Given the description of an element on the screen output the (x, y) to click on. 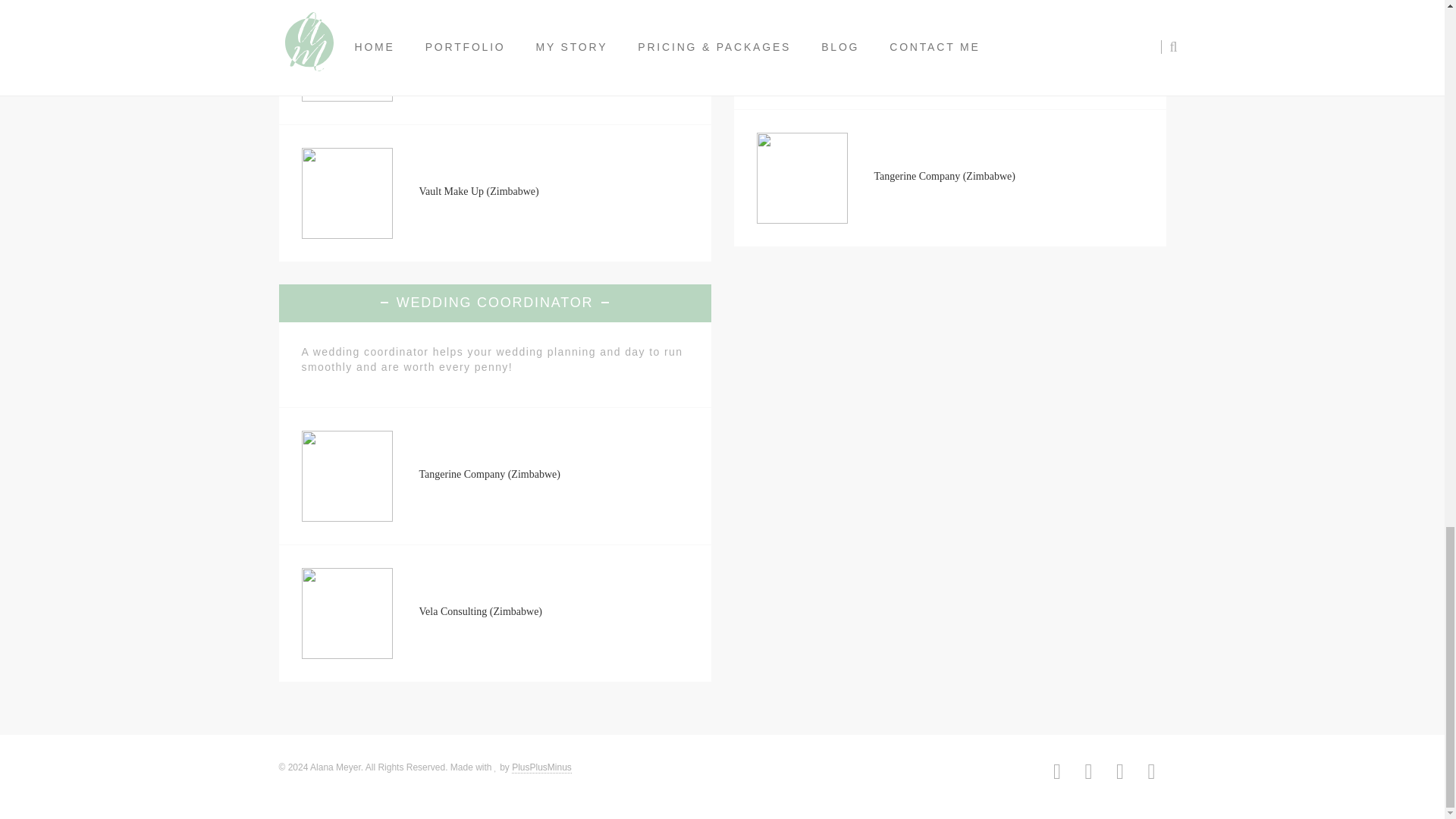
Fields of Colour (908, 39)
Antonia Astrup (451, 53)
